Given the description of an element on the screen output the (x, y) to click on. 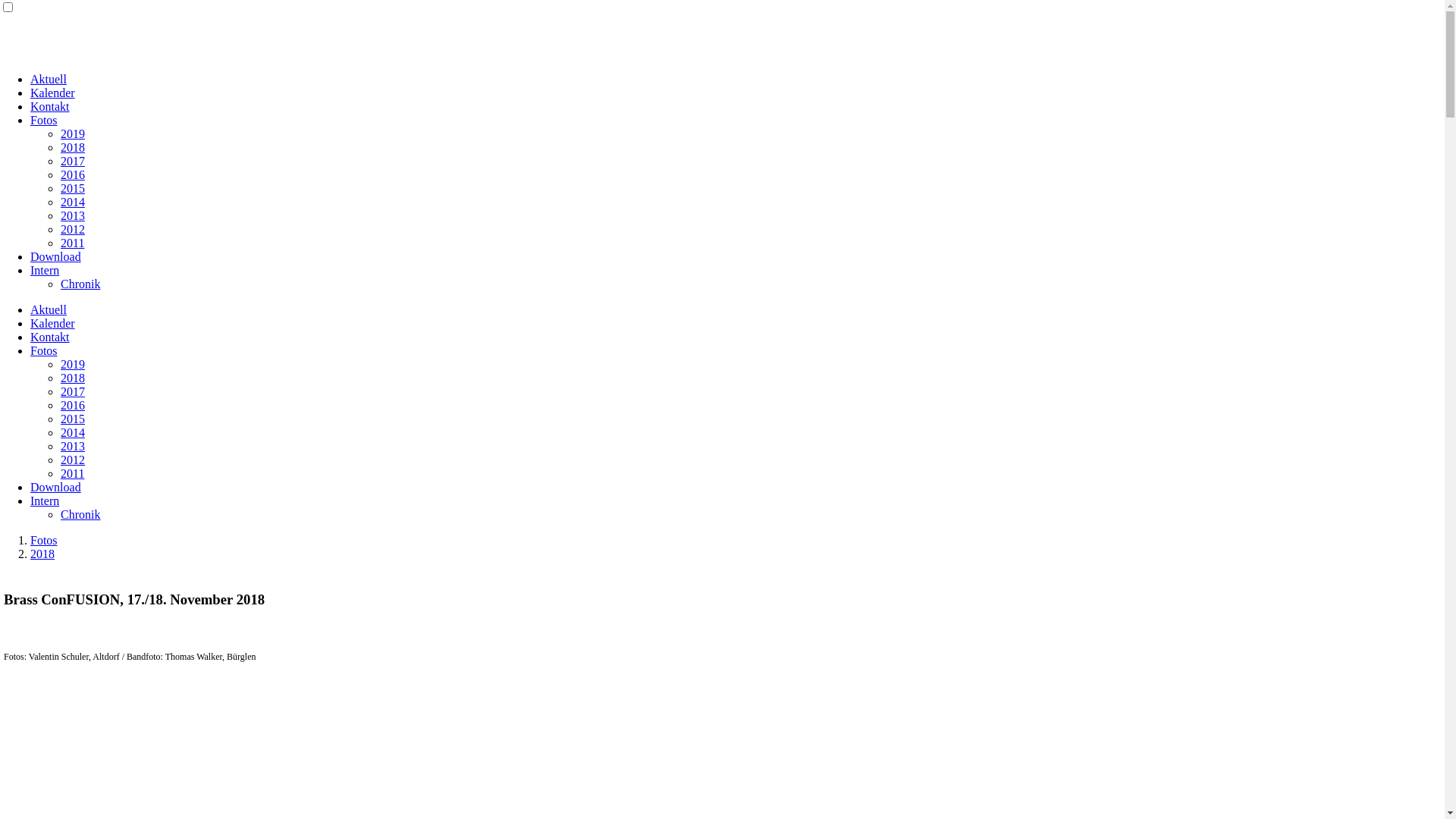
2019 Element type: text (72, 363)
2015 Element type: text (72, 188)
2018 Element type: text (72, 147)
Kalender Element type: text (52, 322)
2012 Element type: text (72, 228)
2019 Element type: text (72, 133)
2015 Element type: text (72, 418)
2017 Element type: text (72, 391)
Intern Element type: text (44, 500)
Kalender Element type: text (52, 92)
2016 Element type: text (72, 404)
2011 Element type: text (72, 473)
2013 Element type: text (72, 445)
Download Element type: text (55, 256)
Fotos Element type: text (43, 119)
Aktuell Element type: text (48, 78)
Intern Element type: text (44, 269)
2016 Element type: text (72, 174)
2018 Element type: text (42, 553)
2014 Element type: text (72, 201)
2013 Element type: text (72, 215)
2018 Element type: text (72, 377)
Download Element type: text (55, 486)
2014 Element type: text (72, 432)
Fotos Element type: text (43, 539)
Fotos Element type: text (43, 350)
Kontakt Element type: text (49, 106)
2017 Element type: text (72, 160)
Aktuell Element type: text (48, 309)
Chronik Element type: text (80, 514)
Chronik Element type: text (80, 283)
2012 Element type: text (72, 459)
Kontakt Element type: text (49, 336)
2011 Element type: text (72, 242)
